Given the description of an element on the screen output the (x, y) to click on. 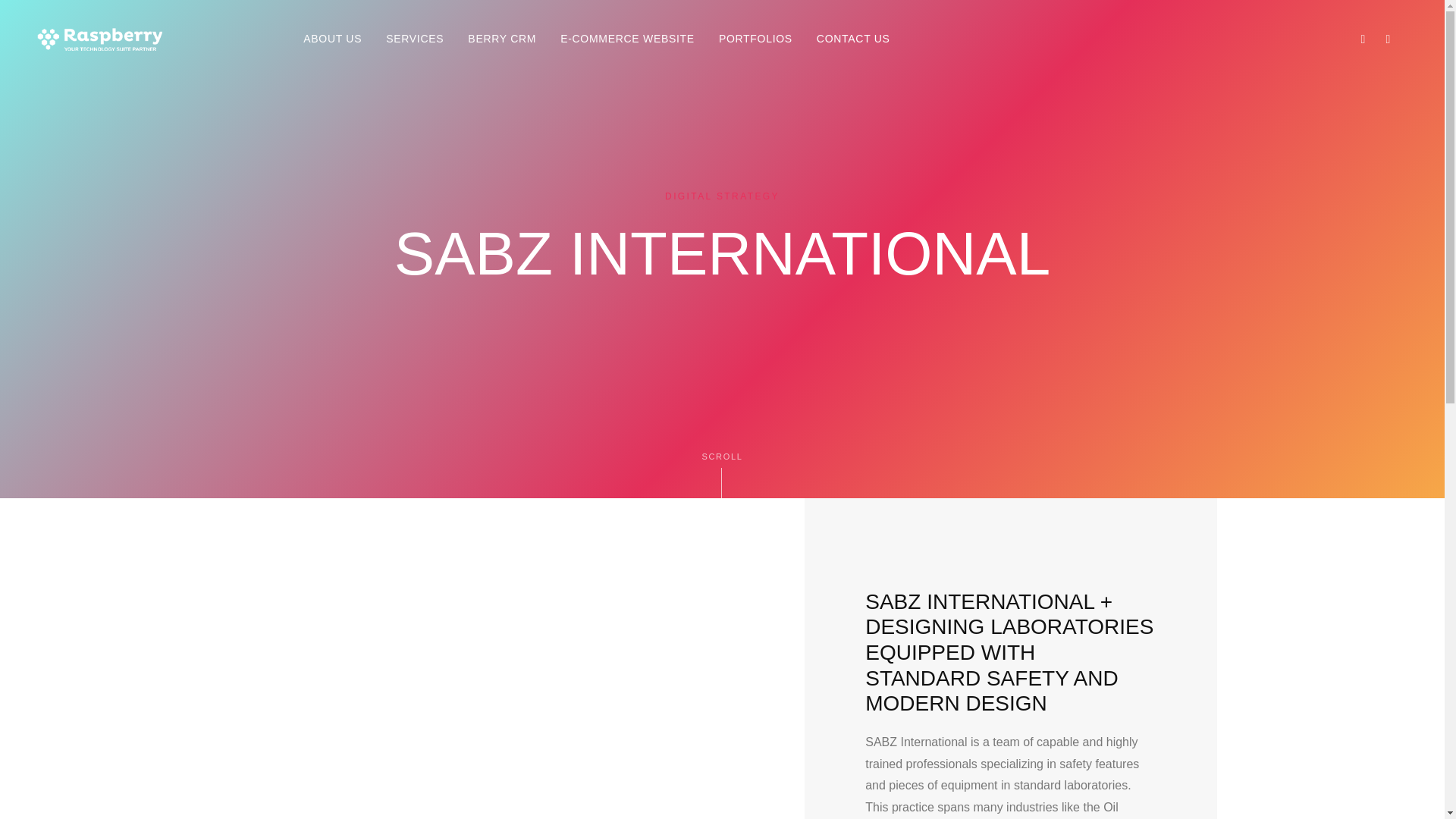
SERVICES (414, 39)
Raspberry IT Services (424, 772)
PORTFOLIOS (755, 39)
BERRY CRM (501, 39)
CONTACT US (853, 39)
SCROLL (722, 473)
SCROLL (722, 471)
ABOUT US (332, 39)
E-COMMERCE WEBSITE (627, 39)
